Given the description of an element on the screen output the (x, y) to click on. 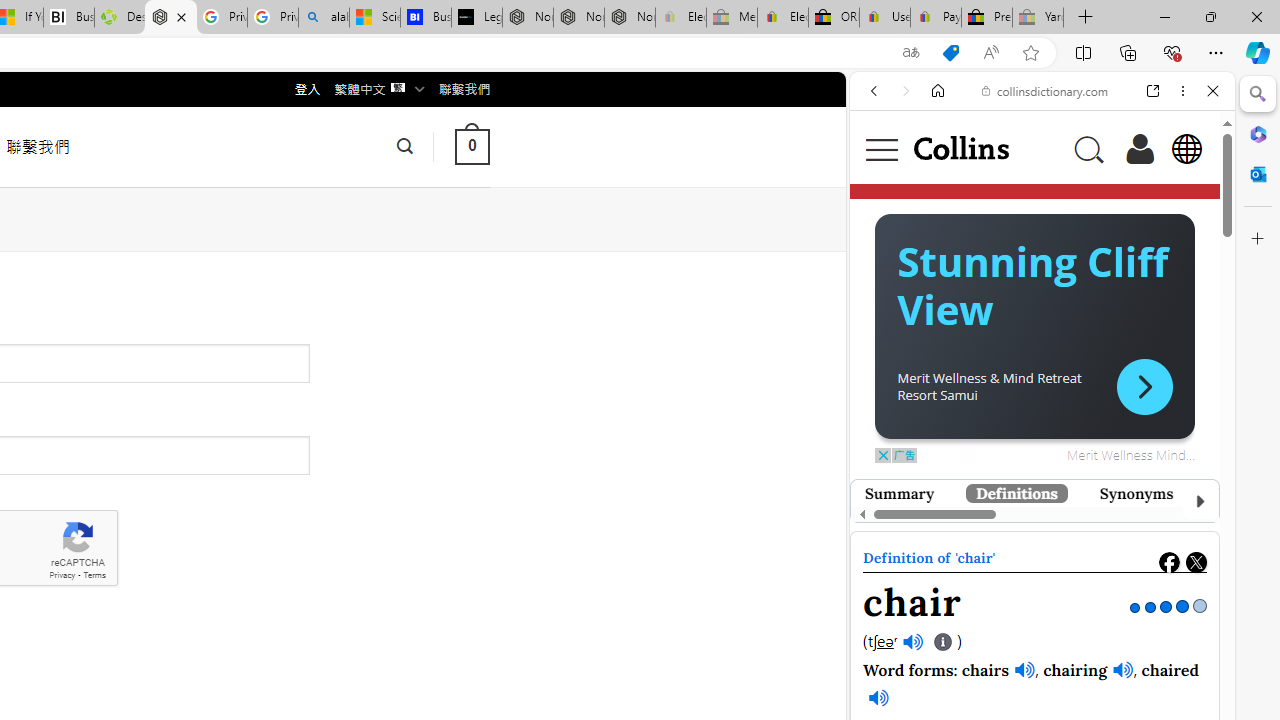
Nordace - My Account (170, 17)
 0  (472, 146)
Class: ns-rrwcd-e-11 flip-on-rtl button (1144, 385)
Yard, Garden & Outdoor Living - Sleeping (1037, 17)
